Given the description of an element on the screen output the (x, y) to click on. 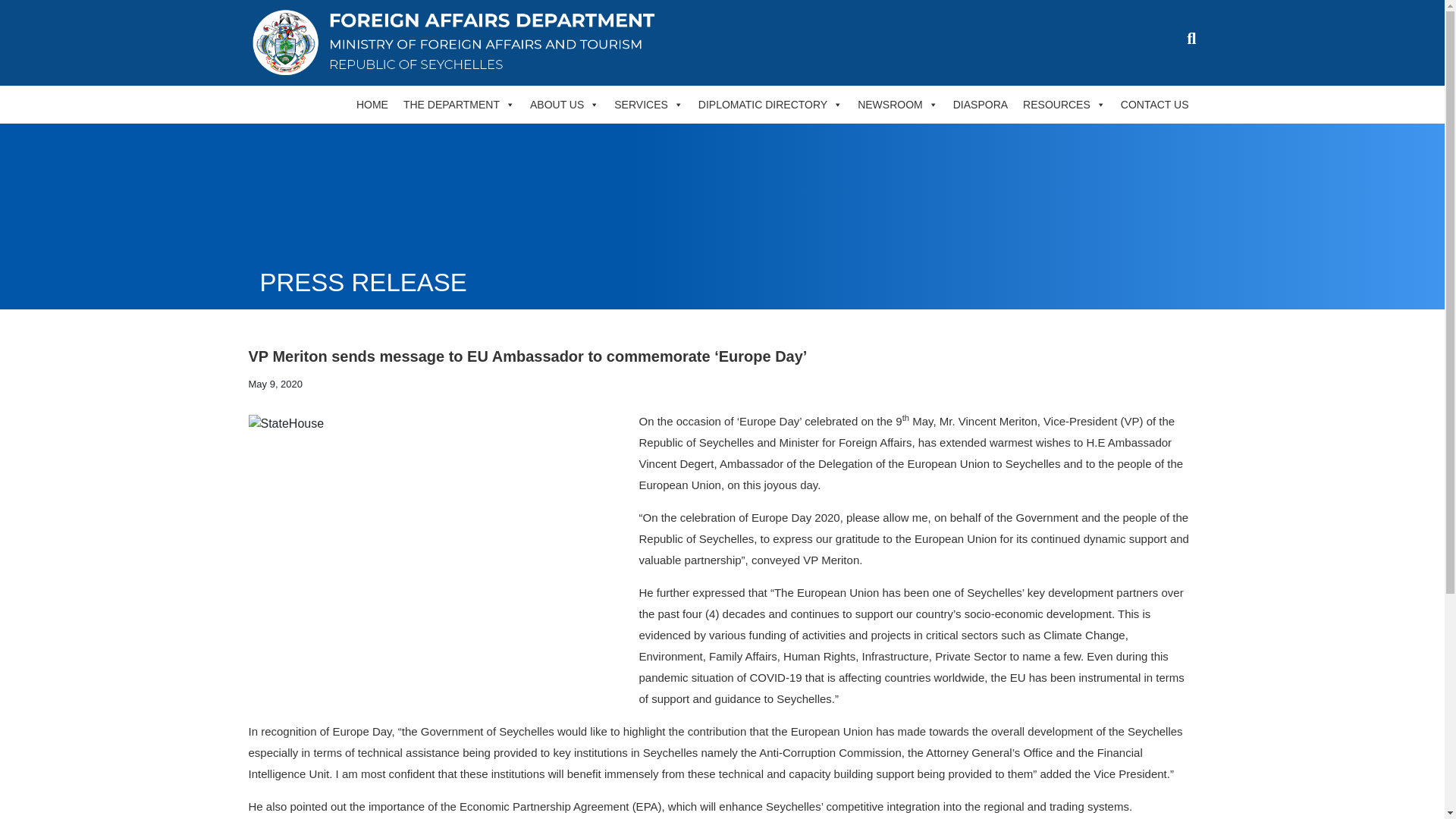
img1 (437, 556)
Search (1208, 82)
SERVICES (648, 104)
HOME (372, 104)
ABOUT US (564, 104)
THE DEPARTMENT (459, 104)
